Given the description of an element on the screen output the (x, y) to click on. 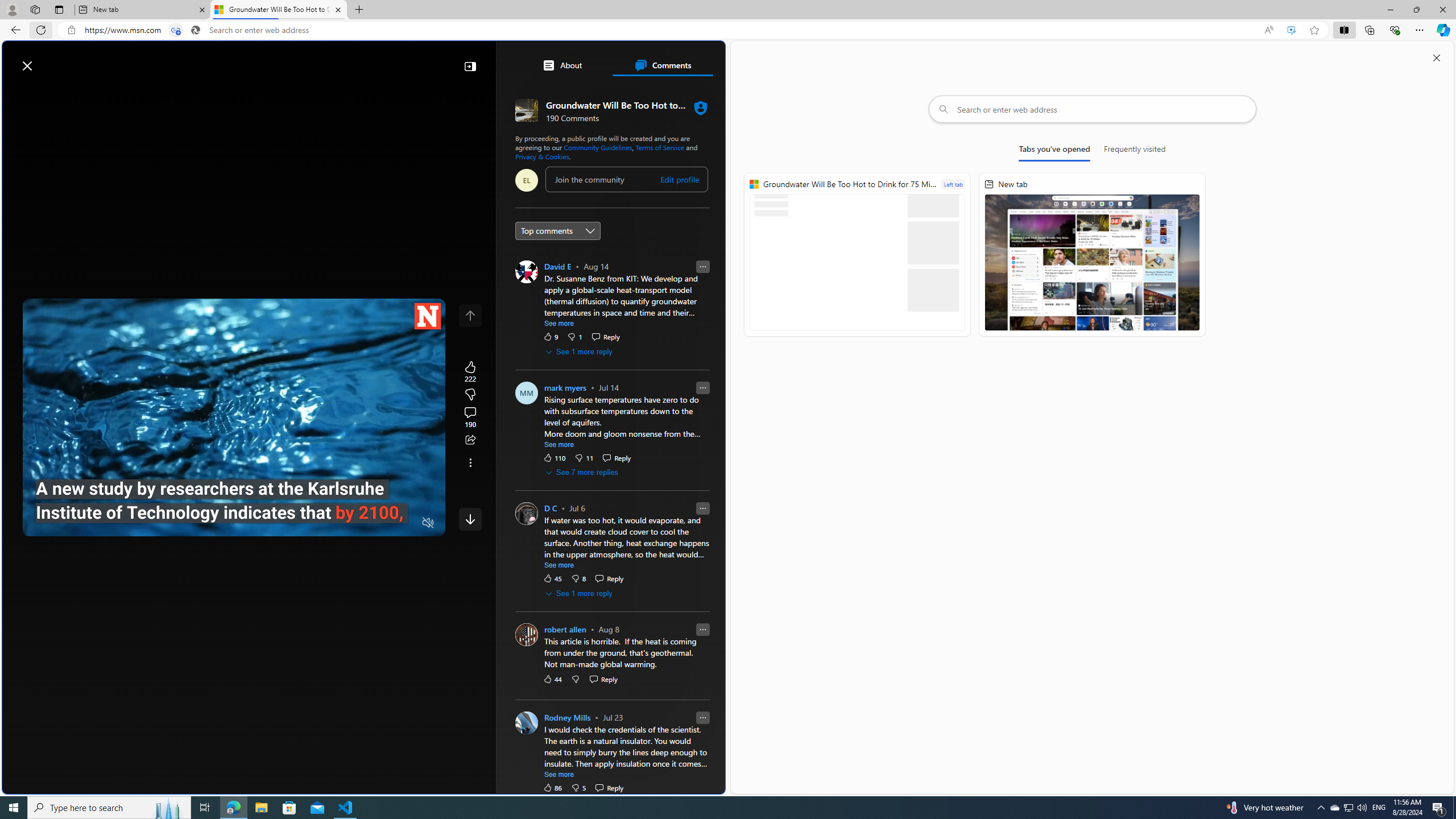
Custom Personal Discounts (616, 571)
View comments 190 Comment (469, 417)
Tabs you've opened (1054, 151)
Unmute (427, 523)
David E (557, 266)
D C (550, 508)
Search or enter web address (1092, 108)
